Given the description of an element on the screen output the (x, y) to click on. 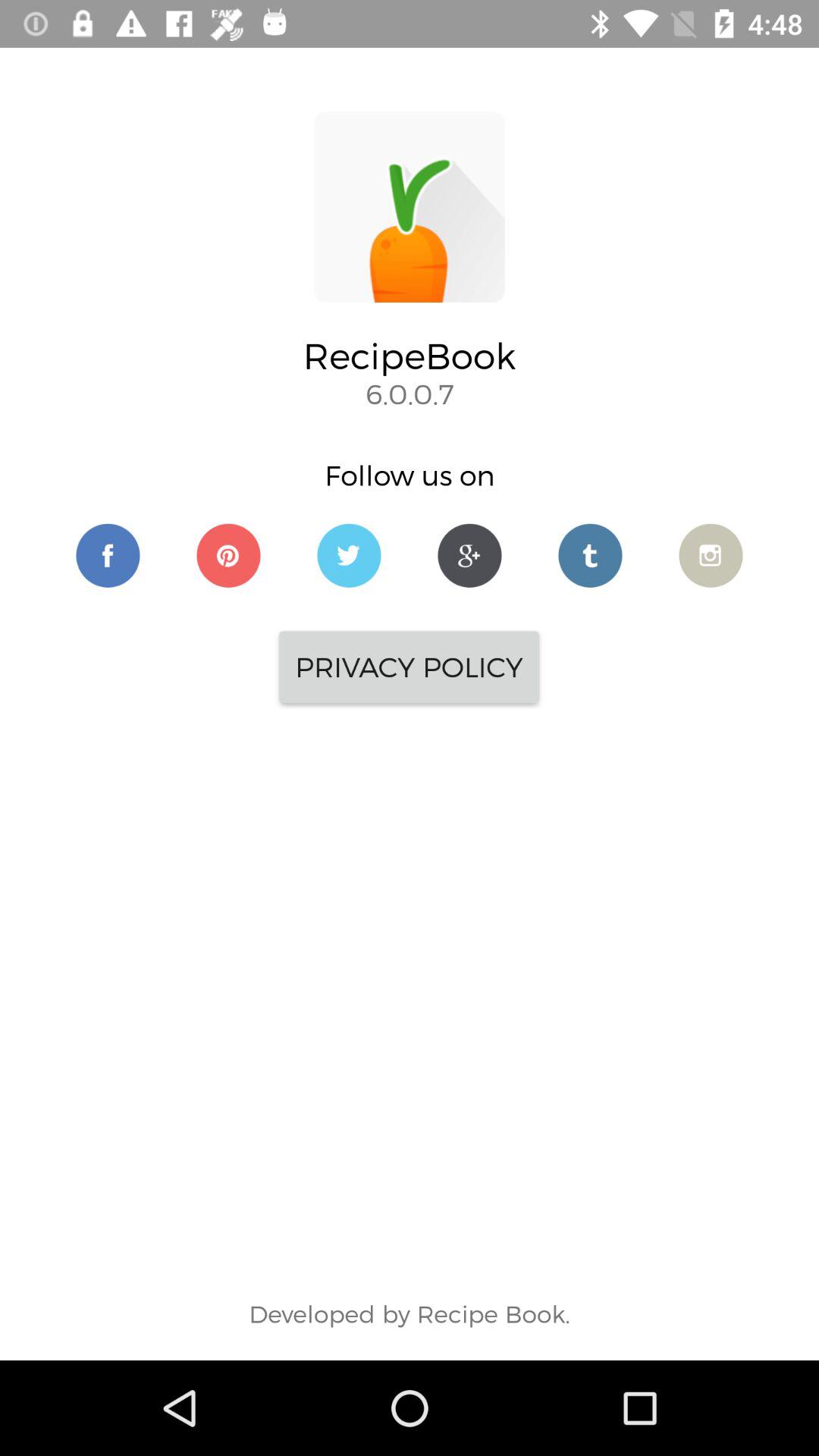
share to facebook (107, 555)
